Given the description of an element on the screen output the (x, y) to click on. 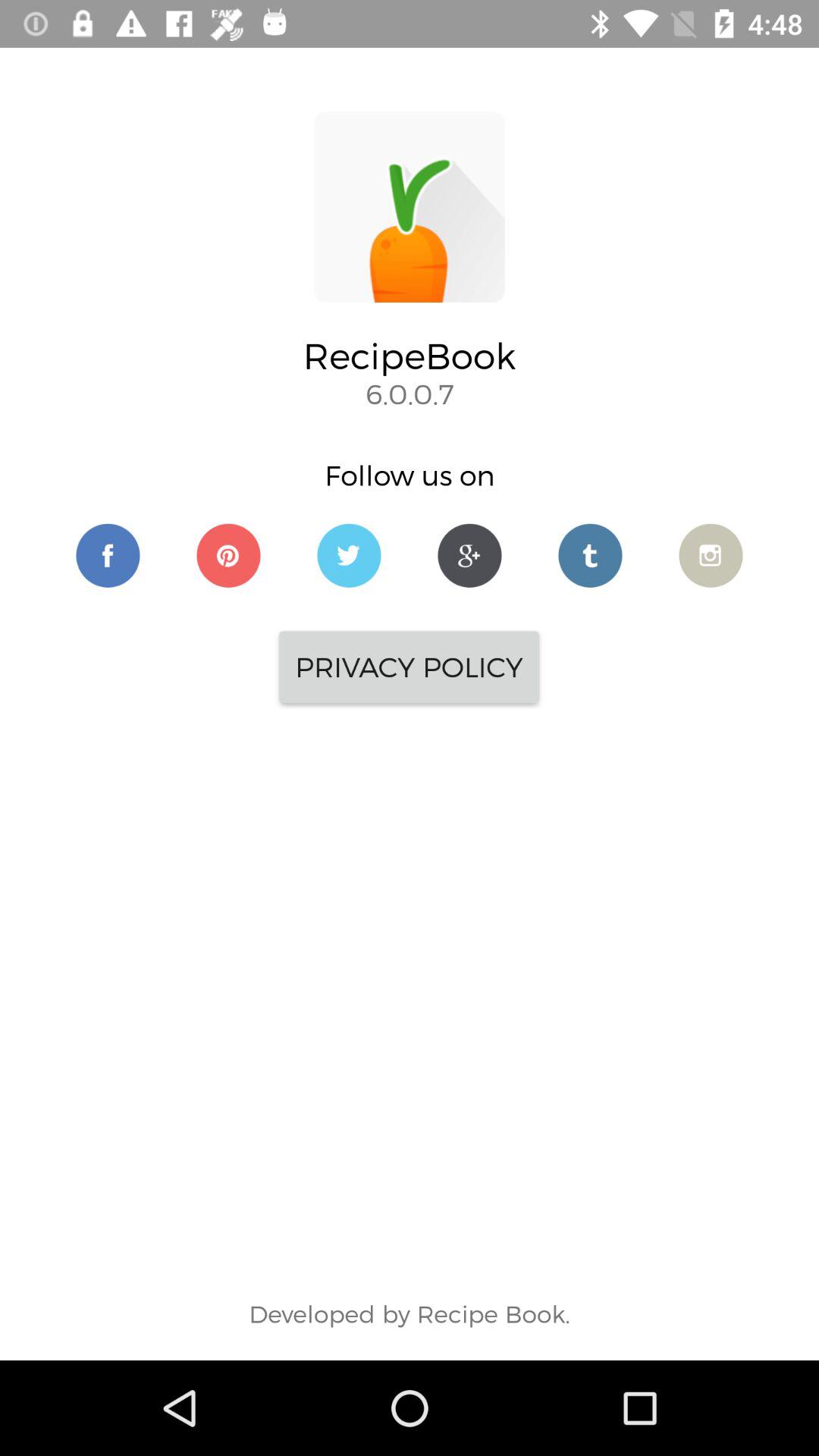
share to facebook (107, 555)
